Given the description of an element on the screen output the (x, y) to click on. 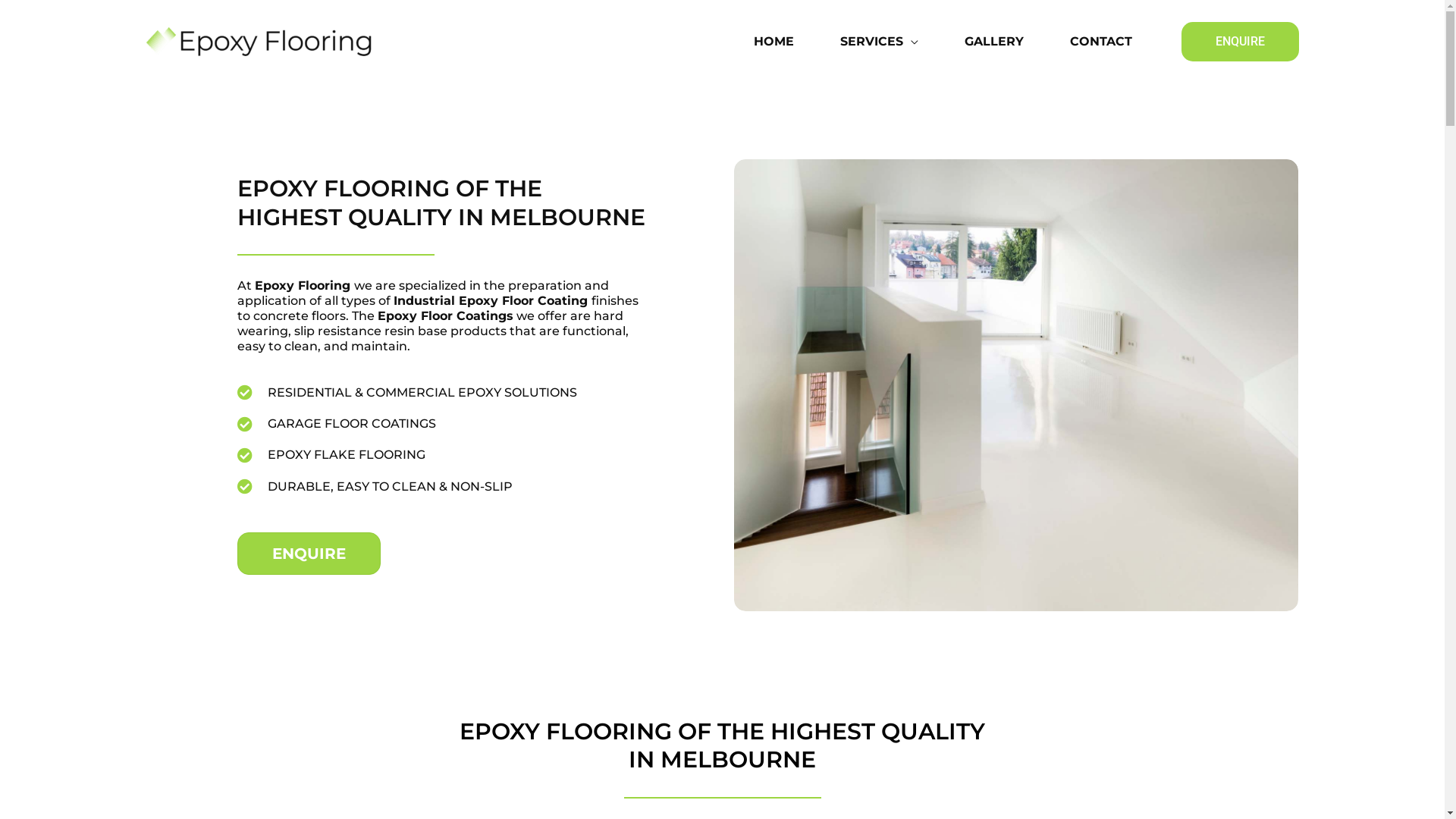
ENQUIRE Element type: text (1240, 41)
hero-img Element type: hover (1016, 385)
CONTACT Element type: text (1111, 41)
HOME Element type: text (784, 41)
ENQUIRE Element type: text (307, 553)
SERVICES Element type: text (890, 41)
GALLERY Element type: text (1004, 41)
